Given the description of an element on the screen output the (x, y) to click on. 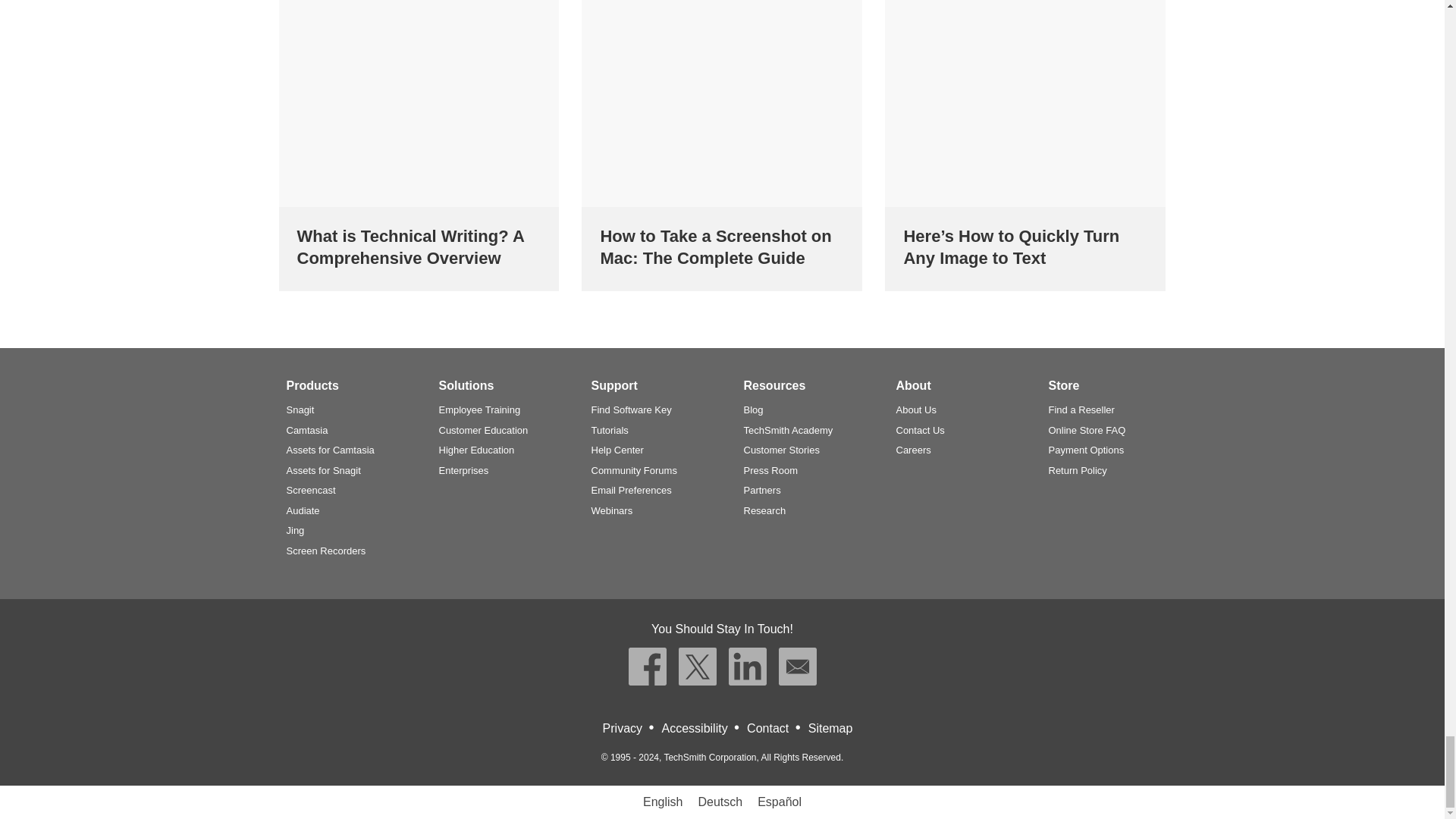
Get tips, news, and updates via Facebook (646, 666)
Get tips and news every month in your email inbox (796, 666)
Get tips, news, and updates via Twitter (697, 666)
Stay current on TechSmith news via LinkedIn (746, 666)
